Given the description of an element on the screen output the (x, y) to click on. 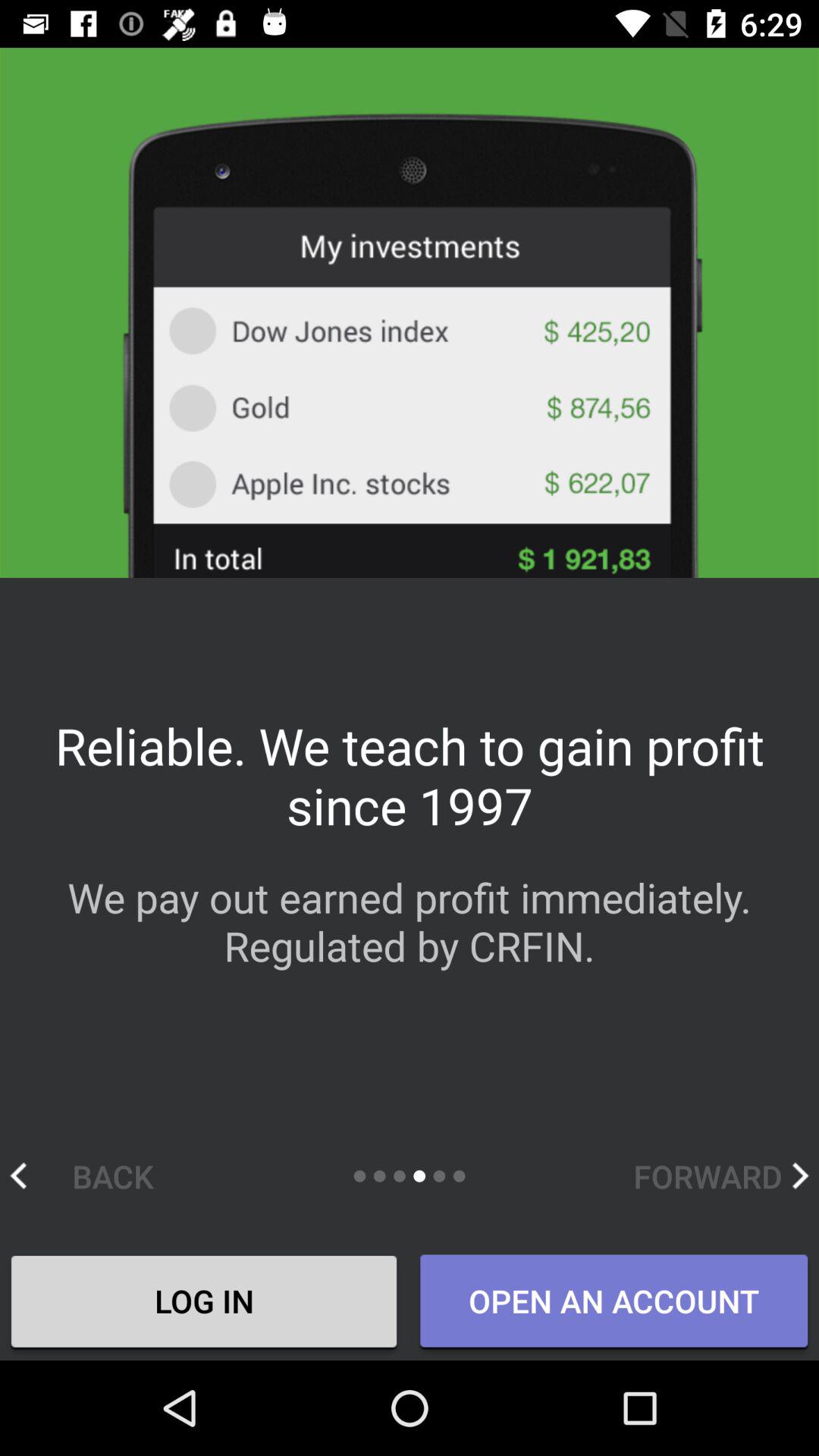
select icon next to log in (613, 1302)
